Given the description of an element on the screen output the (x, y) to click on. 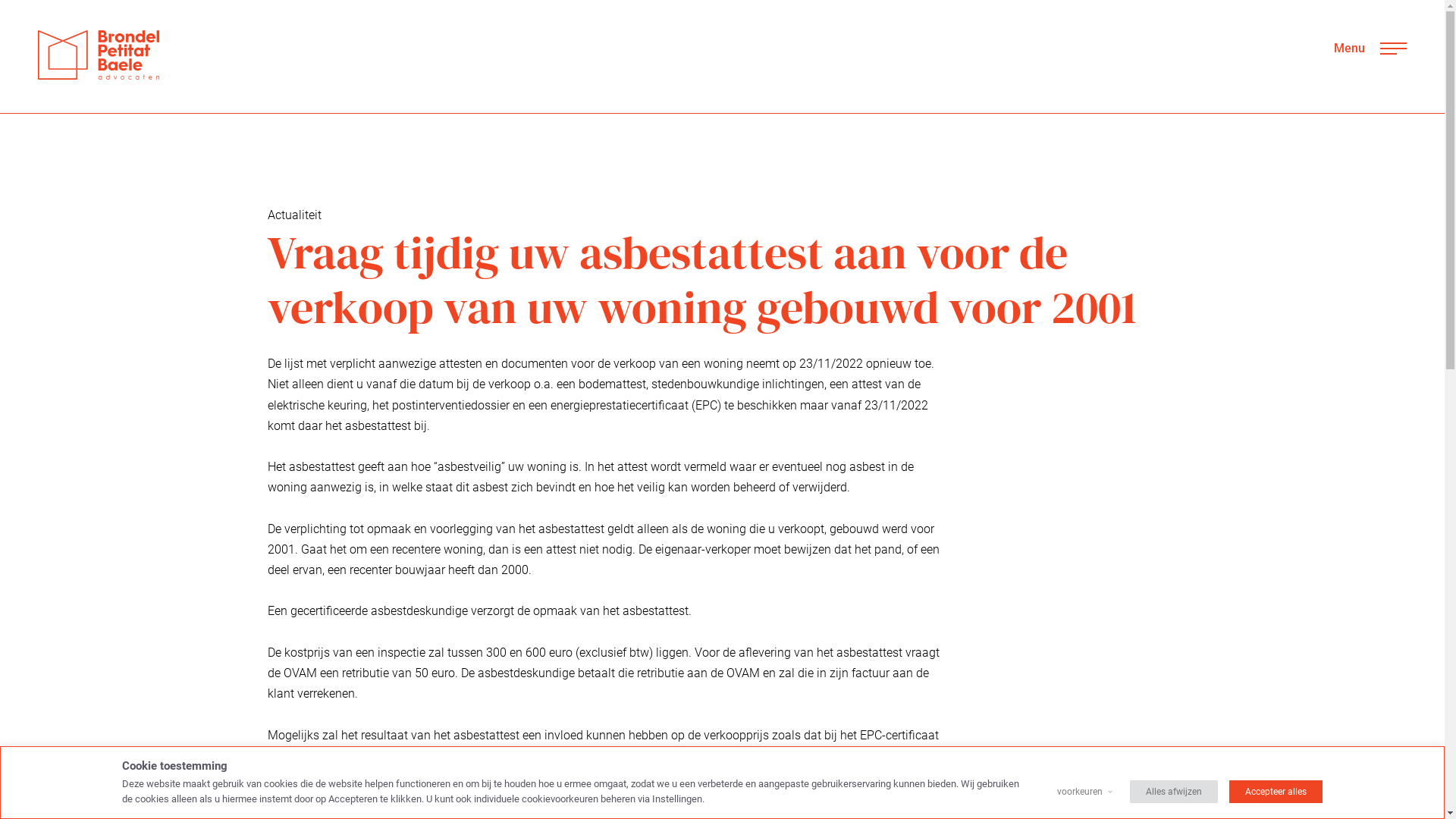
voorkeuren Element type: text (1079, 791)
Menu Element type: text (1369, 47)
Accepteer alles Element type: text (1275, 791)
Alles afwijzen Element type: text (1173, 791)
